Given the description of an element on the screen output the (x, y) to click on. 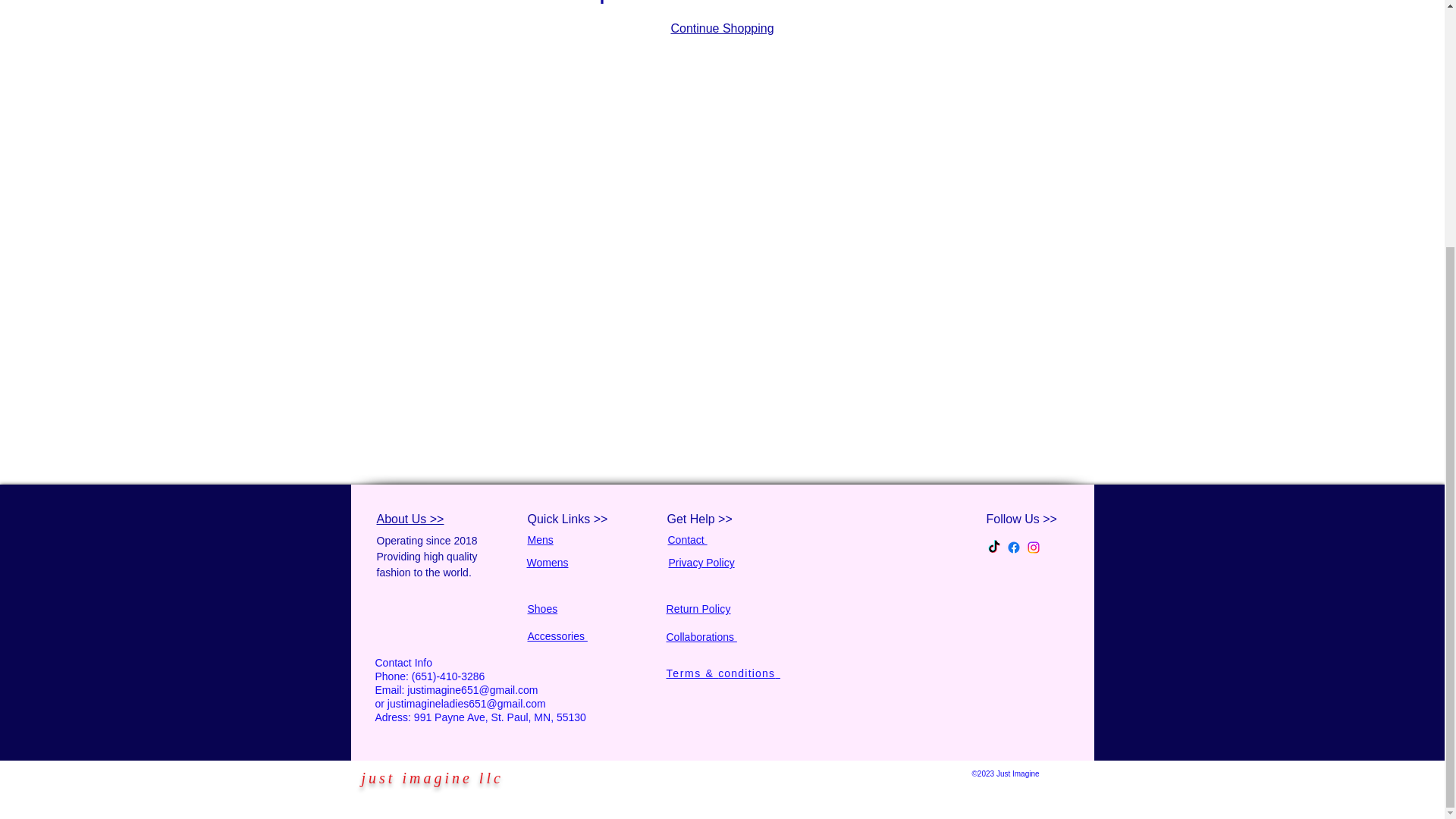
Shoes (542, 608)
Womens (546, 562)
Collaborations  (700, 636)
Privacy Policy (701, 562)
Return Policy (697, 608)
Continue Shopping (721, 28)
Mens (540, 539)
Contact  (686, 539)
Accessories  (557, 635)
